Given the description of an element on the screen output the (x, y) to click on. 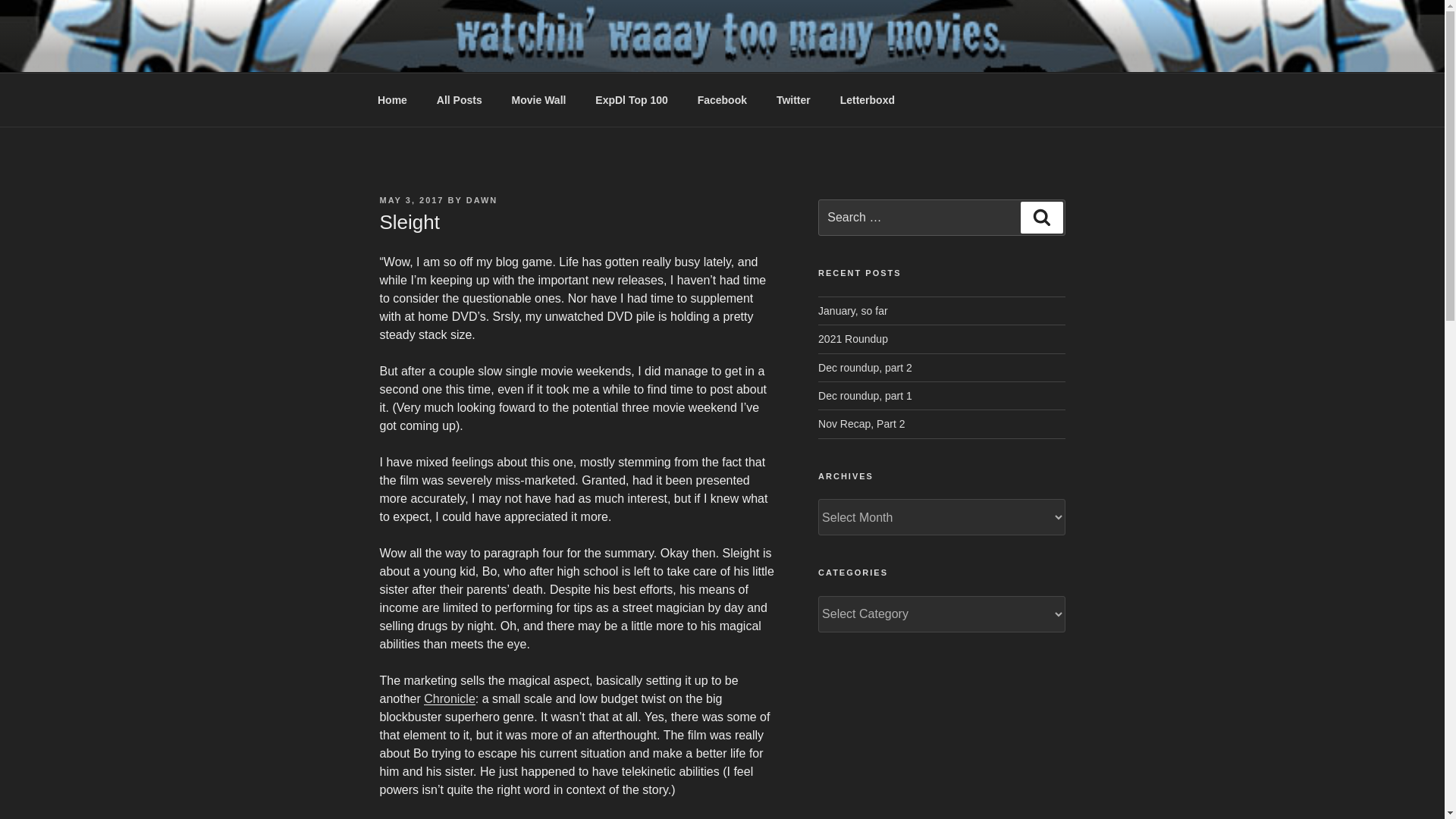
2021 Roundup (853, 338)
EXPLETIVE DLETED (529, 52)
January, so far (853, 310)
ExpDl Top 100 (631, 99)
Home (392, 99)
Twitter (793, 99)
MAY 3, 2017 (411, 199)
DAWN (481, 199)
Facebook (722, 99)
Chronicle (449, 698)
